Given the description of an element on the screen output the (x, y) to click on. 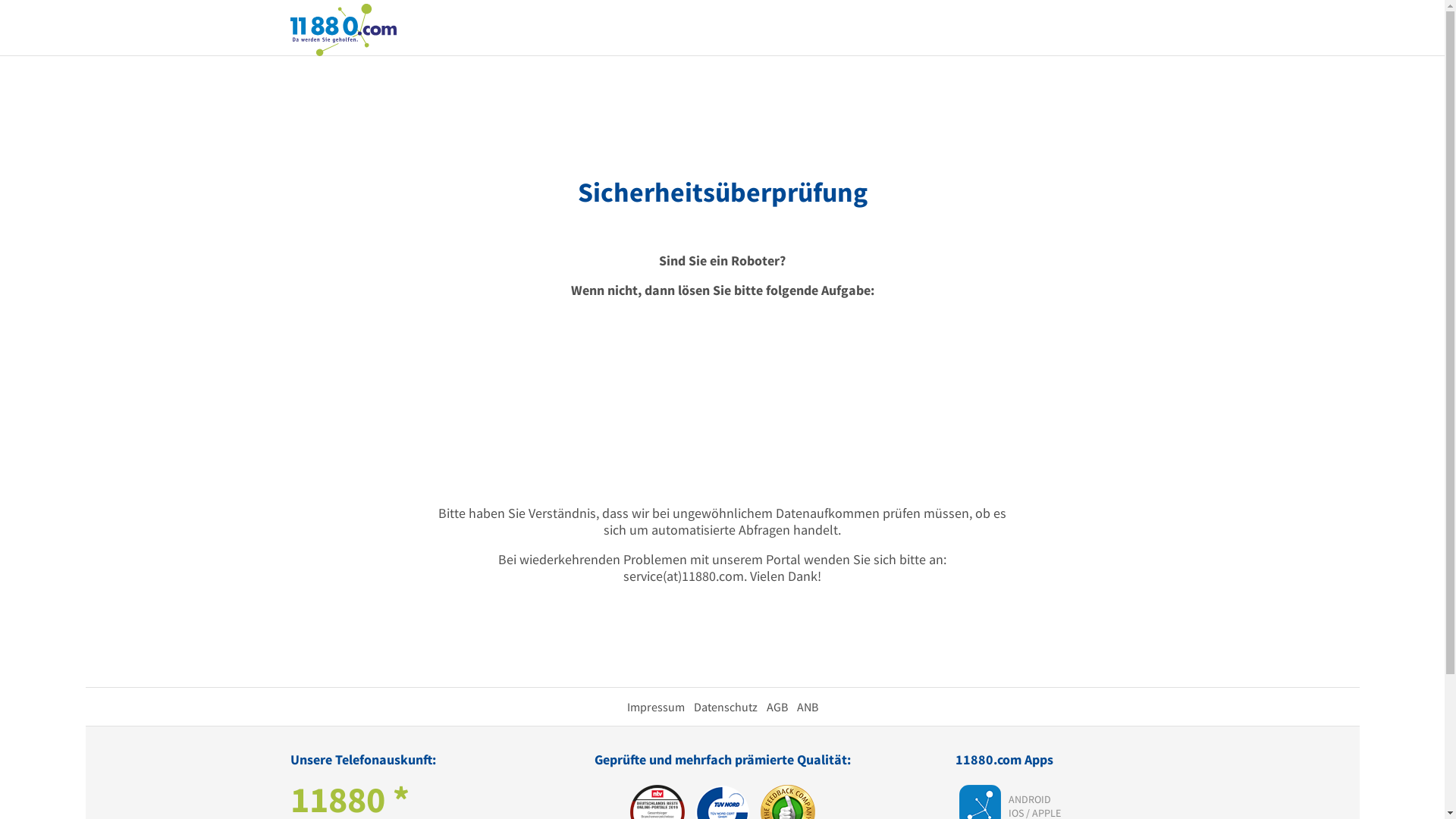
11880.com Element type: hover (342, 28)
AGB Element type: text (776, 706)
Impressum Element type: text (655, 706)
Datenschutz Element type: text (724, 706)
ANB Element type: text (806, 706)
